Given the description of an element on the screen output the (x, y) to click on. 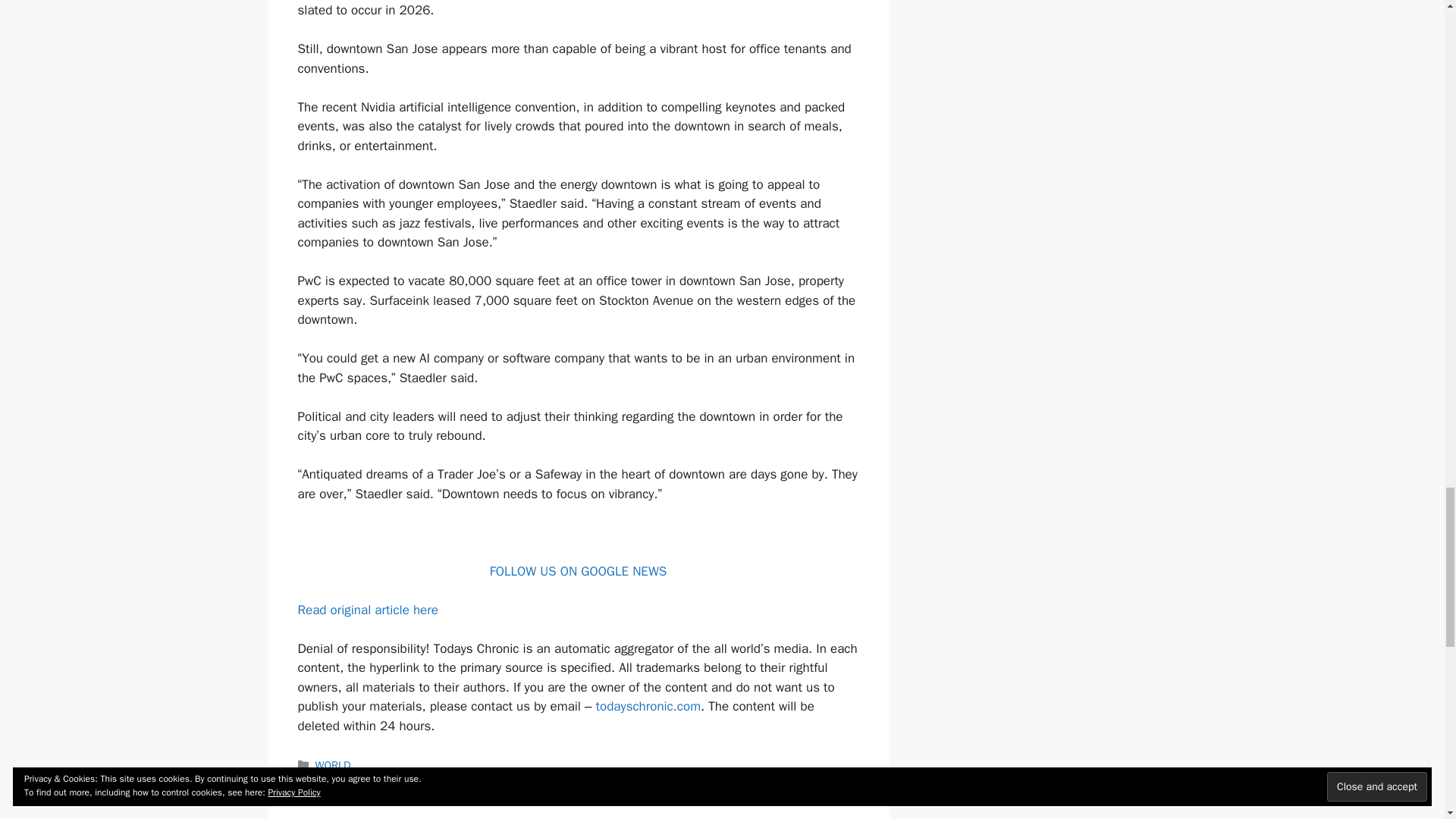
home (531, 781)
house (565, 781)
downtown (438, 781)
WORLD (332, 765)
Rent (725, 781)
Restaurant (768, 781)
Real estate (679, 781)
dine (398, 781)
develop (363, 781)
Economy (490, 781)
